Given the description of an element on the screen output the (x, y) to click on. 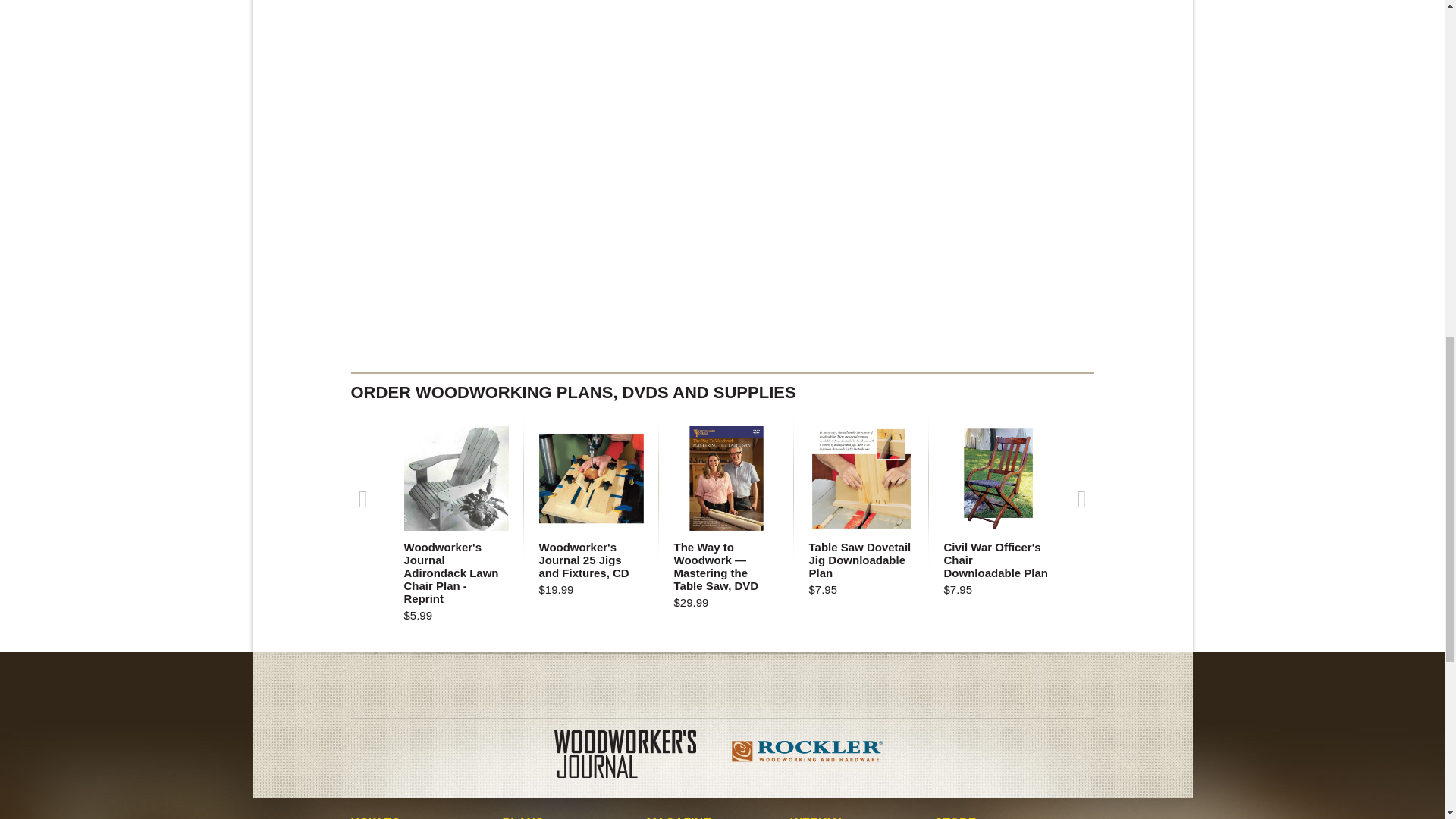
Woodworker's Journal (636, 756)
Rockler (806, 756)
Previous (362, 497)
3rd party ad content (979, 58)
3rd party ad content (721, 686)
Next (1080, 497)
